Given the description of an element on the screen output the (x, y) to click on. 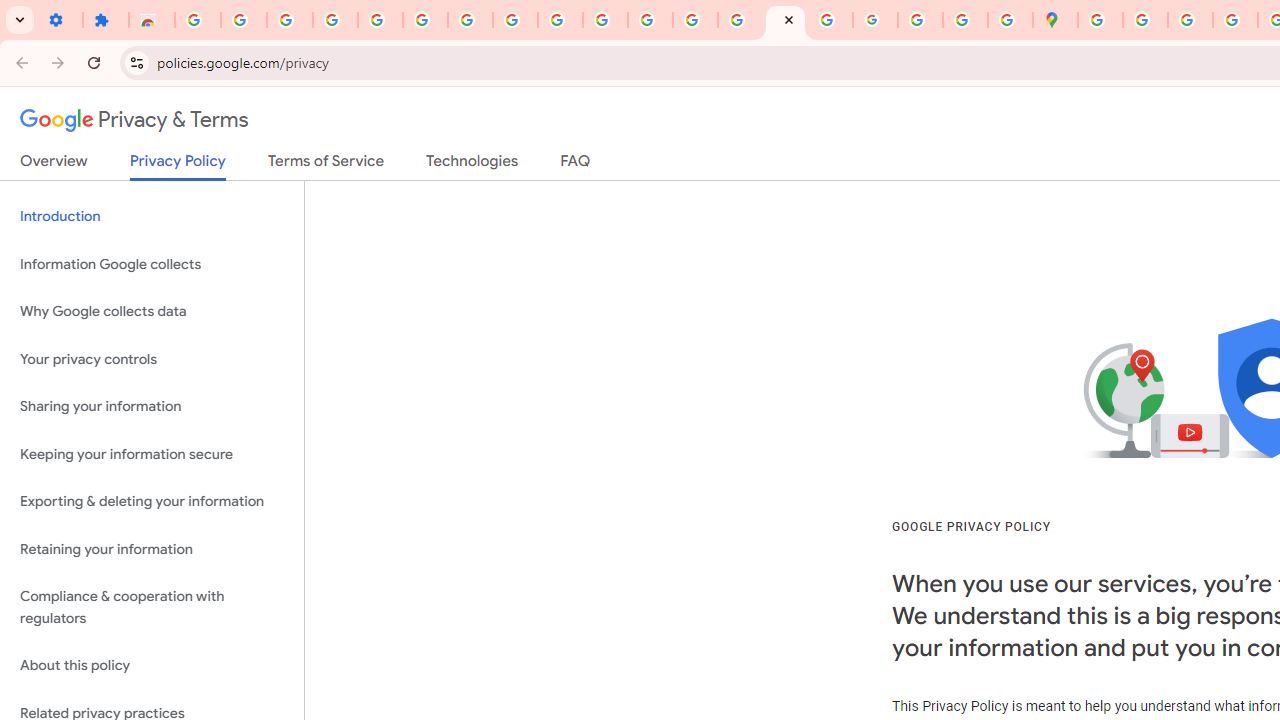
Sign in - Google Accounts (198, 20)
Retaining your information (152, 548)
Your privacy controls (152, 358)
Compliance & cooperation with regulators (152, 607)
Sign in - Google Accounts (380, 20)
